Given the description of an element on the screen output the (x, y) to click on. 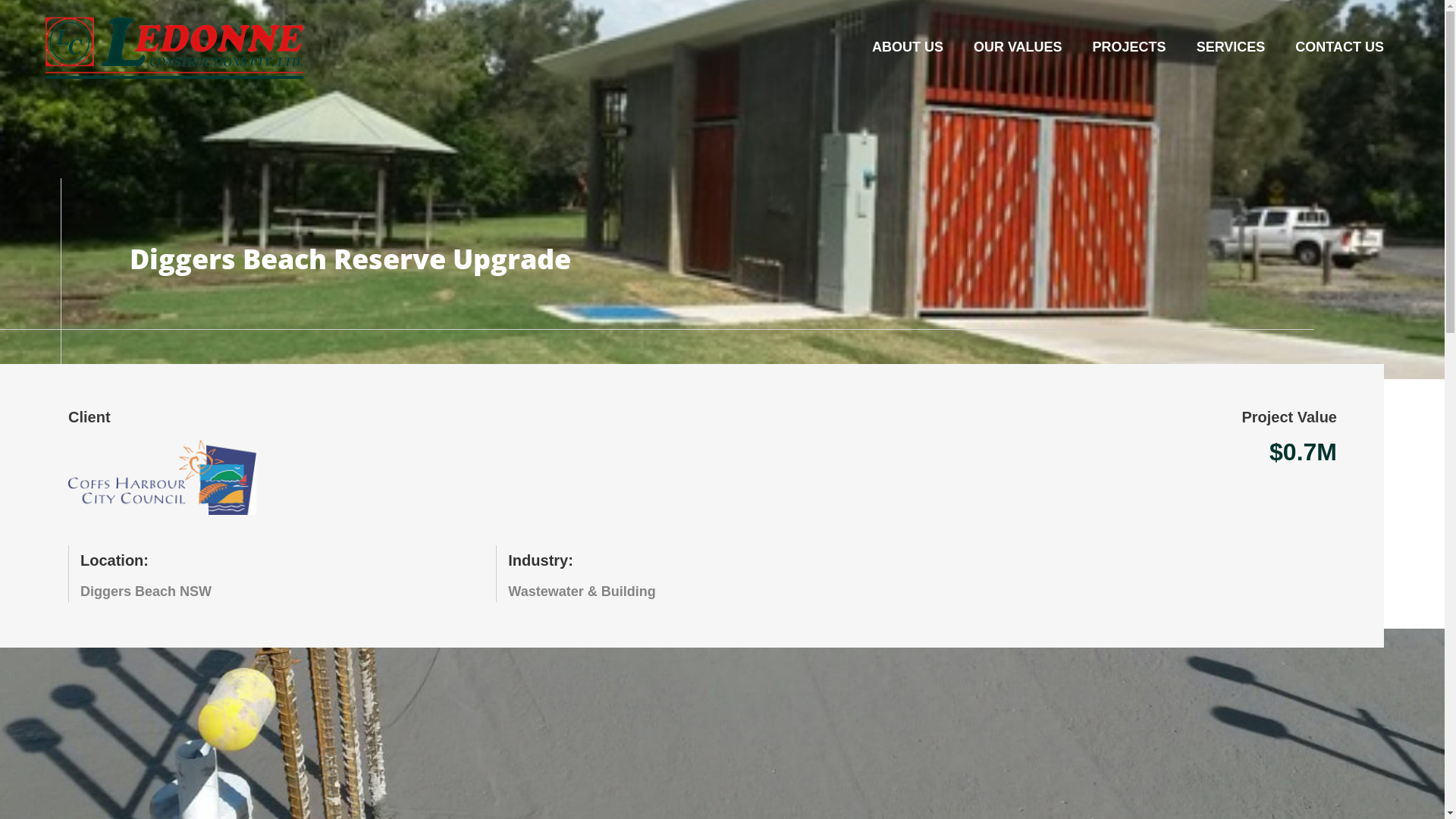
SERVICES Element type: text (1230, 46)
ABOUT US Element type: text (907, 46)
PROJECTS Element type: text (1129, 46)
CONTACT US Element type: text (1339, 46)
OUR VALUES Element type: text (1017, 46)
